Given the description of an element on the screen output the (x, y) to click on. 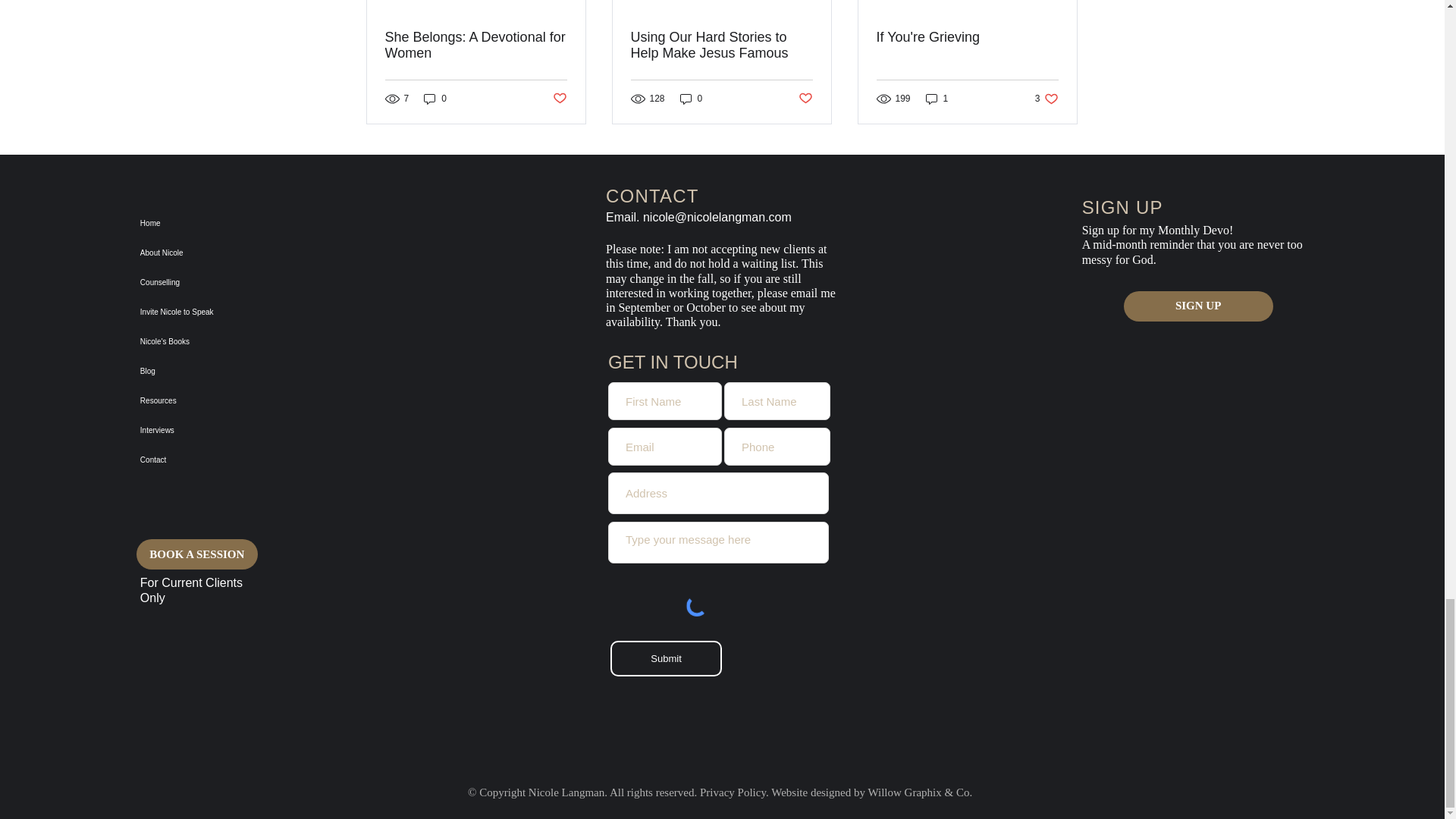
0 (435, 98)
0 (691, 98)
Using Our Hard Stories to Help Make Jesus Famous (721, 45)
If You're Grieving (967, 37)
1 (937, 98)
She Belongs: A Devotional for Women (476, 45)
Post not marked as liked (558, 98)
Post not marked as liked (804, 98)
